Given the description of an element on the screen output the (x, y) to click on. 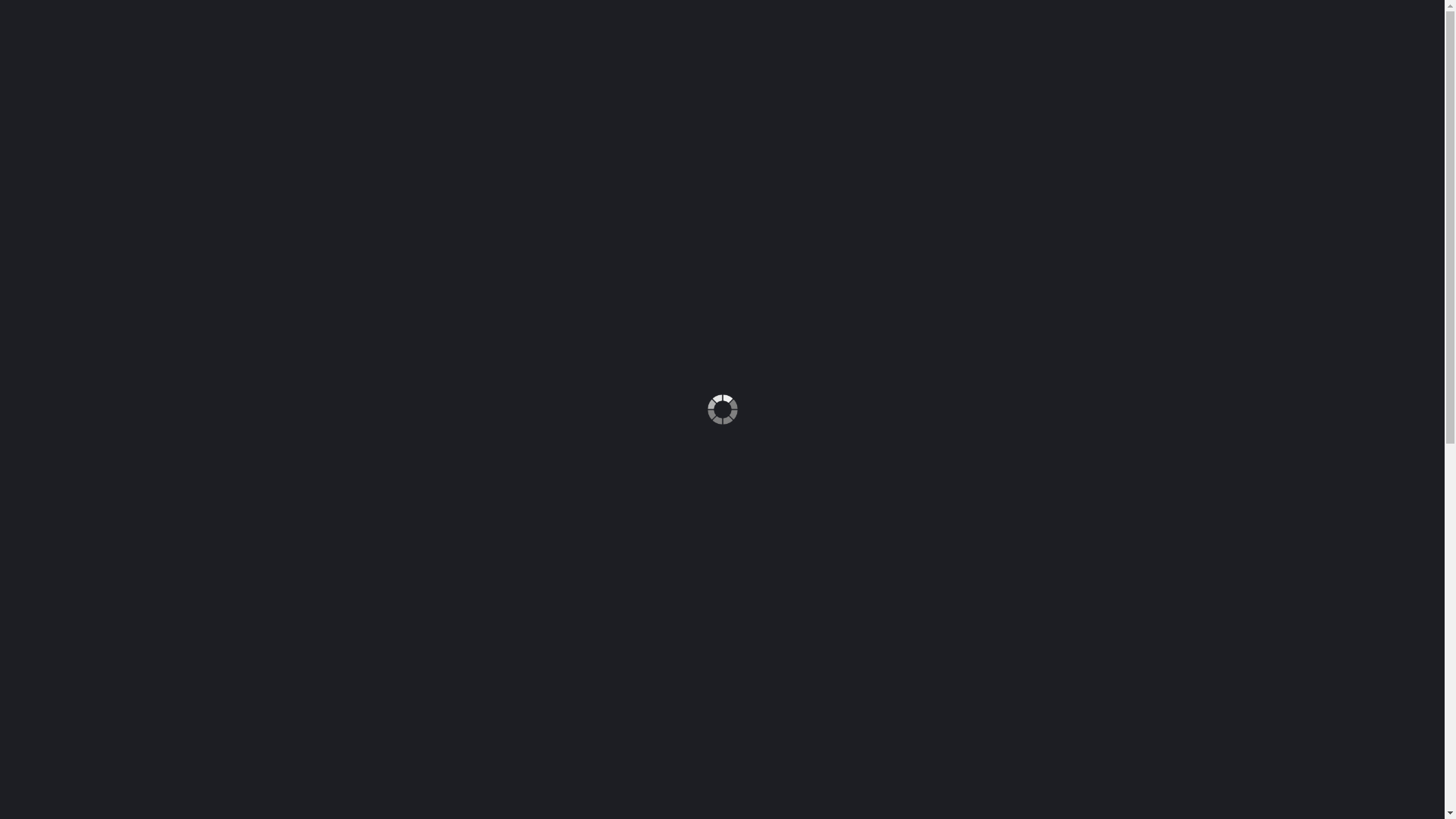
KICKER TEES Element type: text (422, 127)
HOME Element type: text (523, 49)
GEAR Element type: text (369, 127)
PRODUCTS Element type: text (612, 49)
CONTACT US Element type: text (1058, 49)
SERVICE Element type: text (804, 49)
ABOUT US Element type: text (711, 49)
AUTHORIZED DEALERS Element type: text (925, 49)
DESCRIPTION Element type: text (315, 591)
Kicker Tees Element type: text (811, 343)
HOME Element type: text (292, 127)
SHOP Element type: text (331, 127)
